Given the description of an element on the screen output the (x, y) to click on. 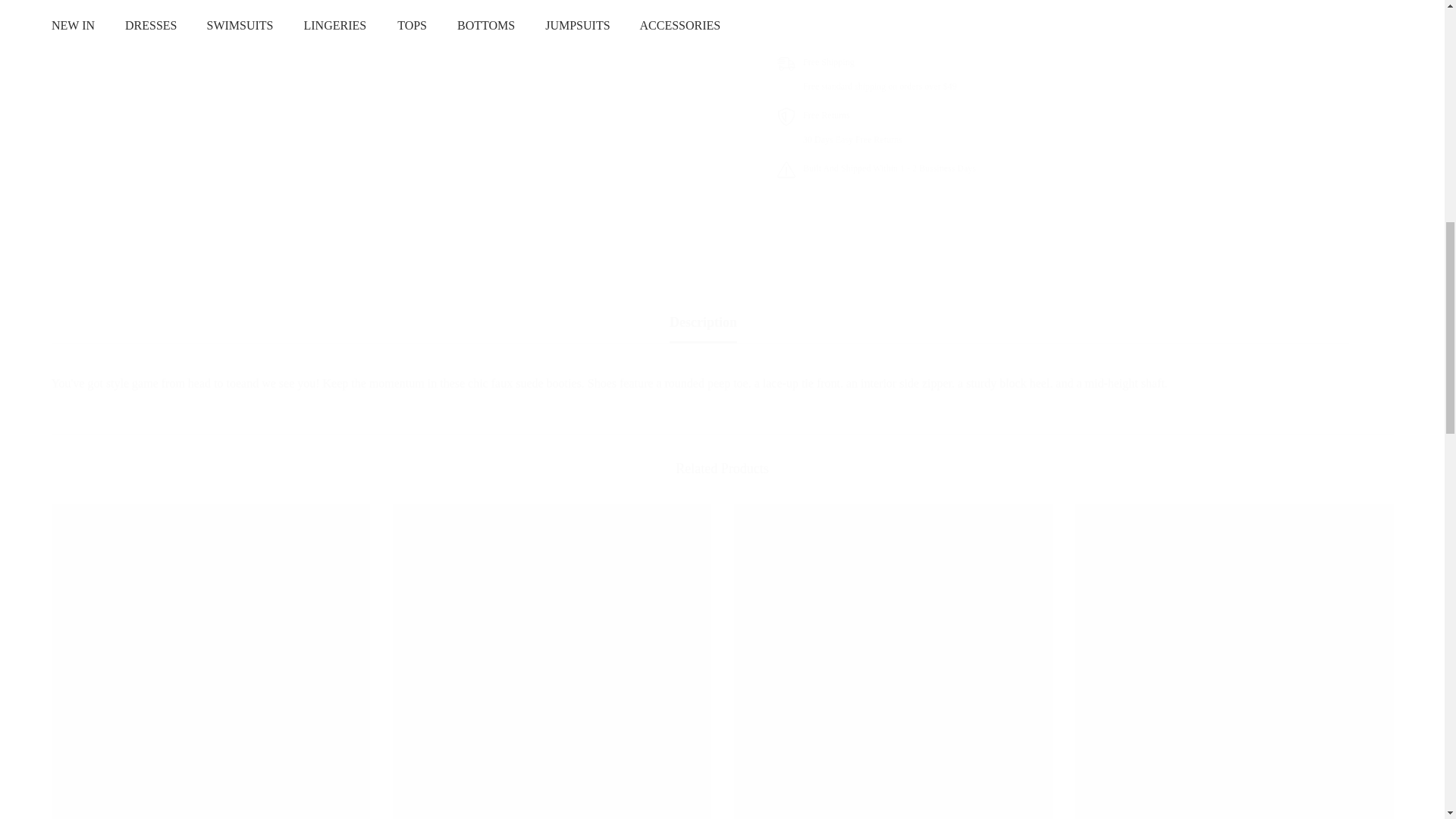
Built And Shipped Within 1 - 2 Bussiness Days (1085, 15)
